Given the description of an element on the screen output the (x, y) to click on. 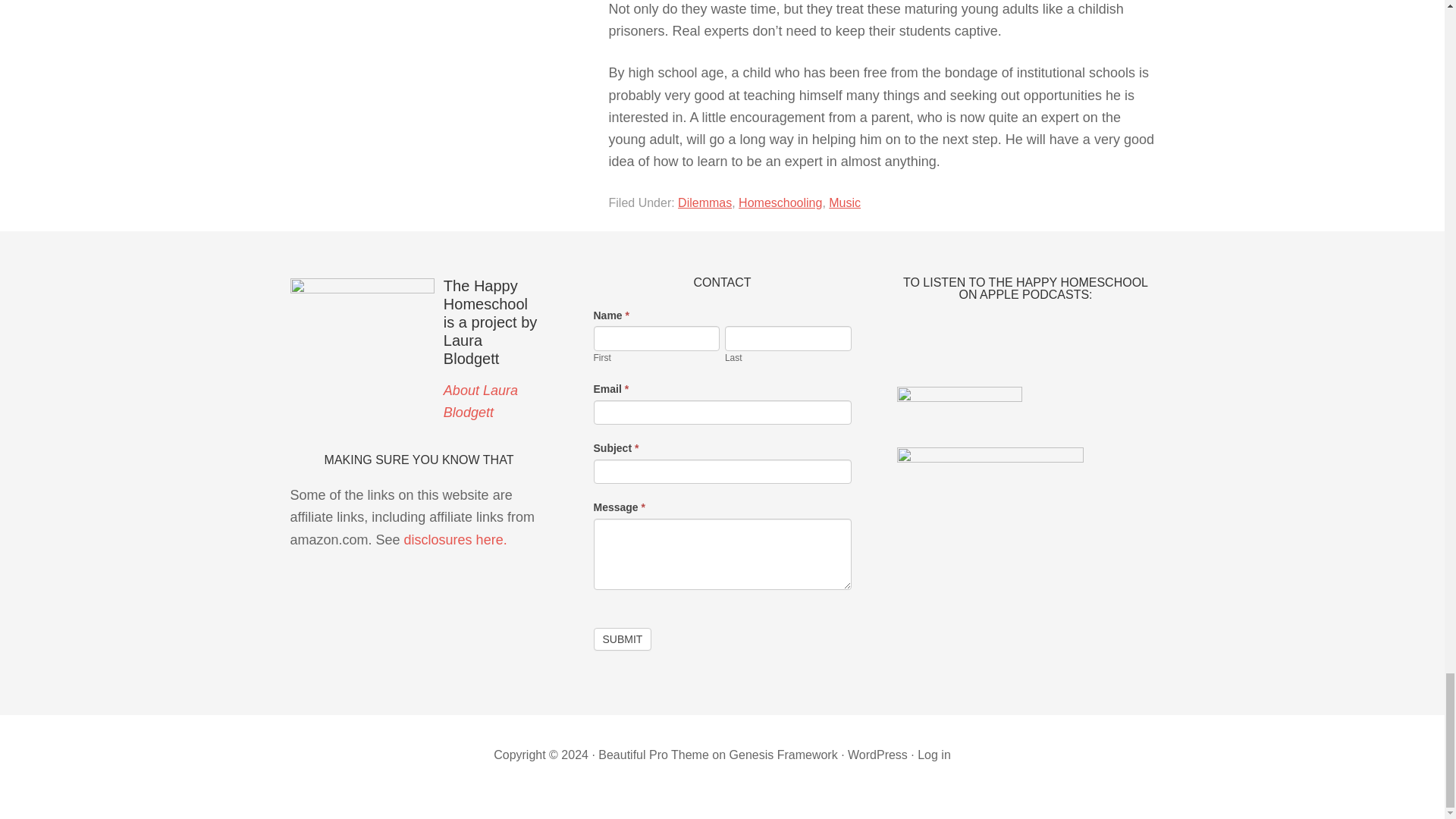
Beautiful Pro Theme (653, 754)
Homeschooling (780, 202)
Log in (933, 754)
disclosures here. (455, 539)
Dilemmas (705, 202)
About Laura Blodgett (481, 401)
WordPress (877, 754)
Music (844, 202)
SUBMIT (621, 639)
Genesis Framework (783, 754)
